Given the description of an element on the screen output the (x, y) to click on. 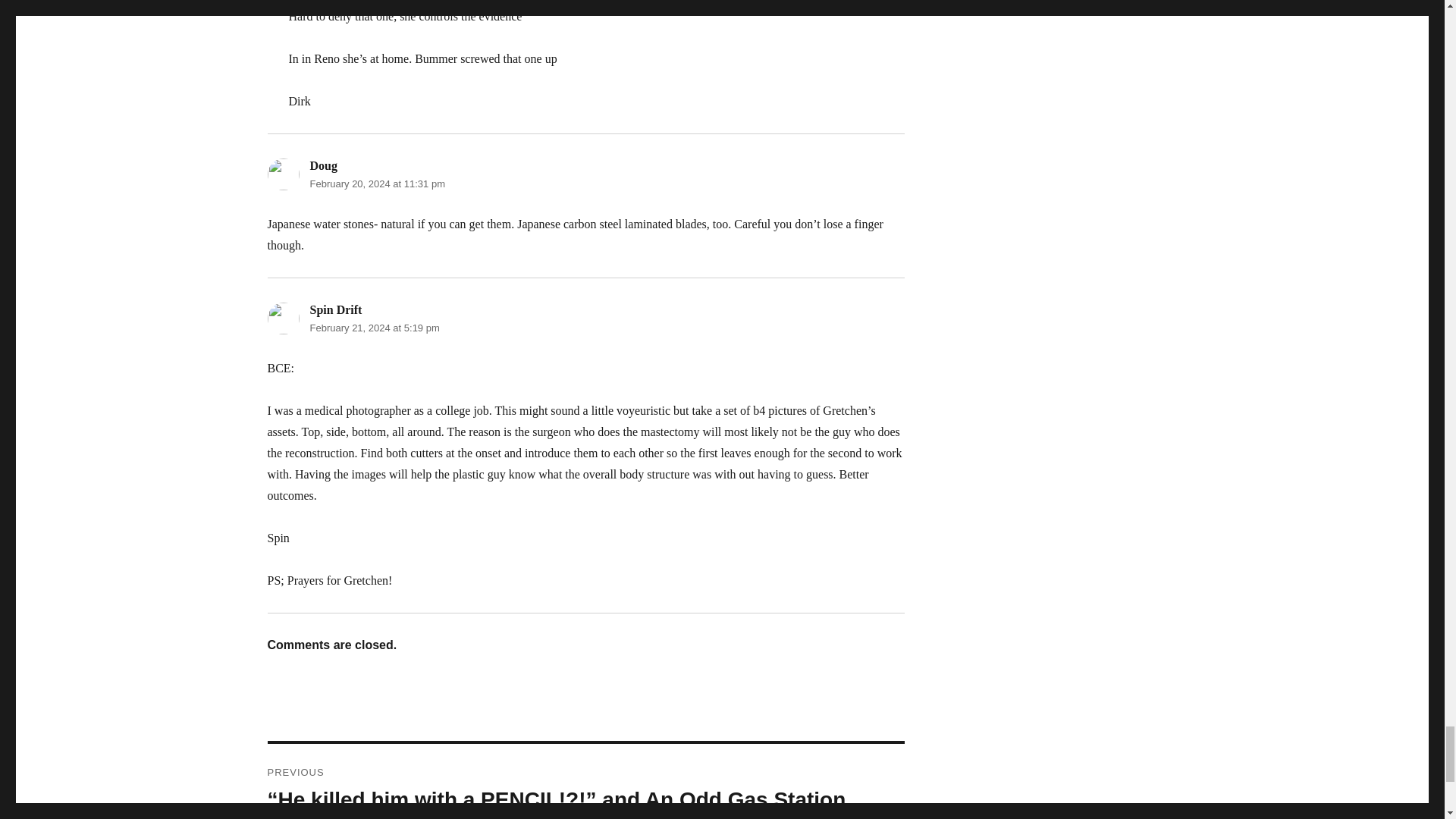
February 21, 2024 at 5:19 pm (373, 327)
February 20, 2024 at 11:31 pm (376, 183)
